Given the description of an element on the screen output the (x, y) to click on. 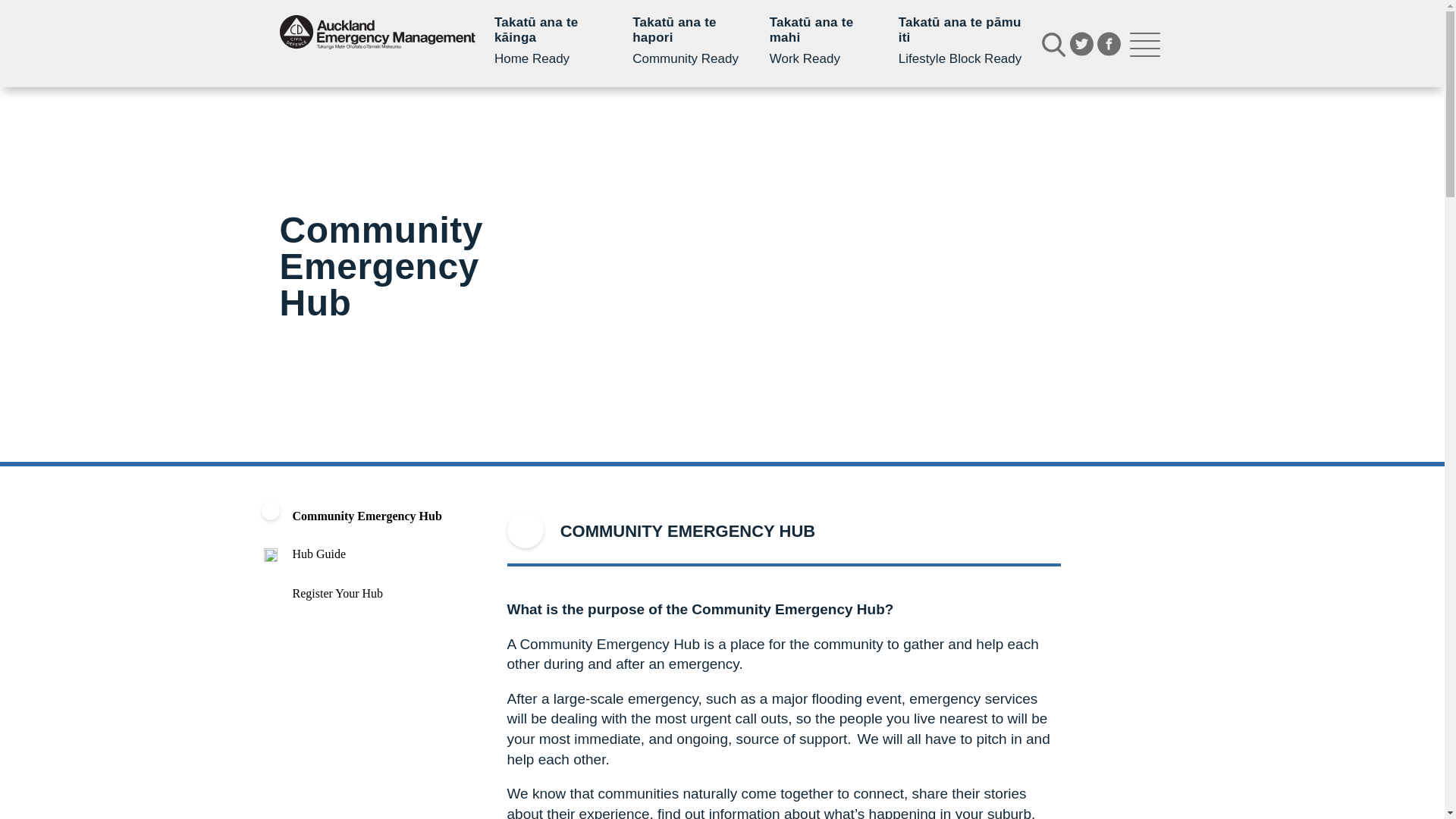
Lifestyle Block Ready (960, 41)
Home Ready (552, 41)
Community Ready (688, 41)
Work Ready (823, 41)
Toggle menu navigation (1144, 44)
